Given the description of an element on the screen output the (x, y) to click on. 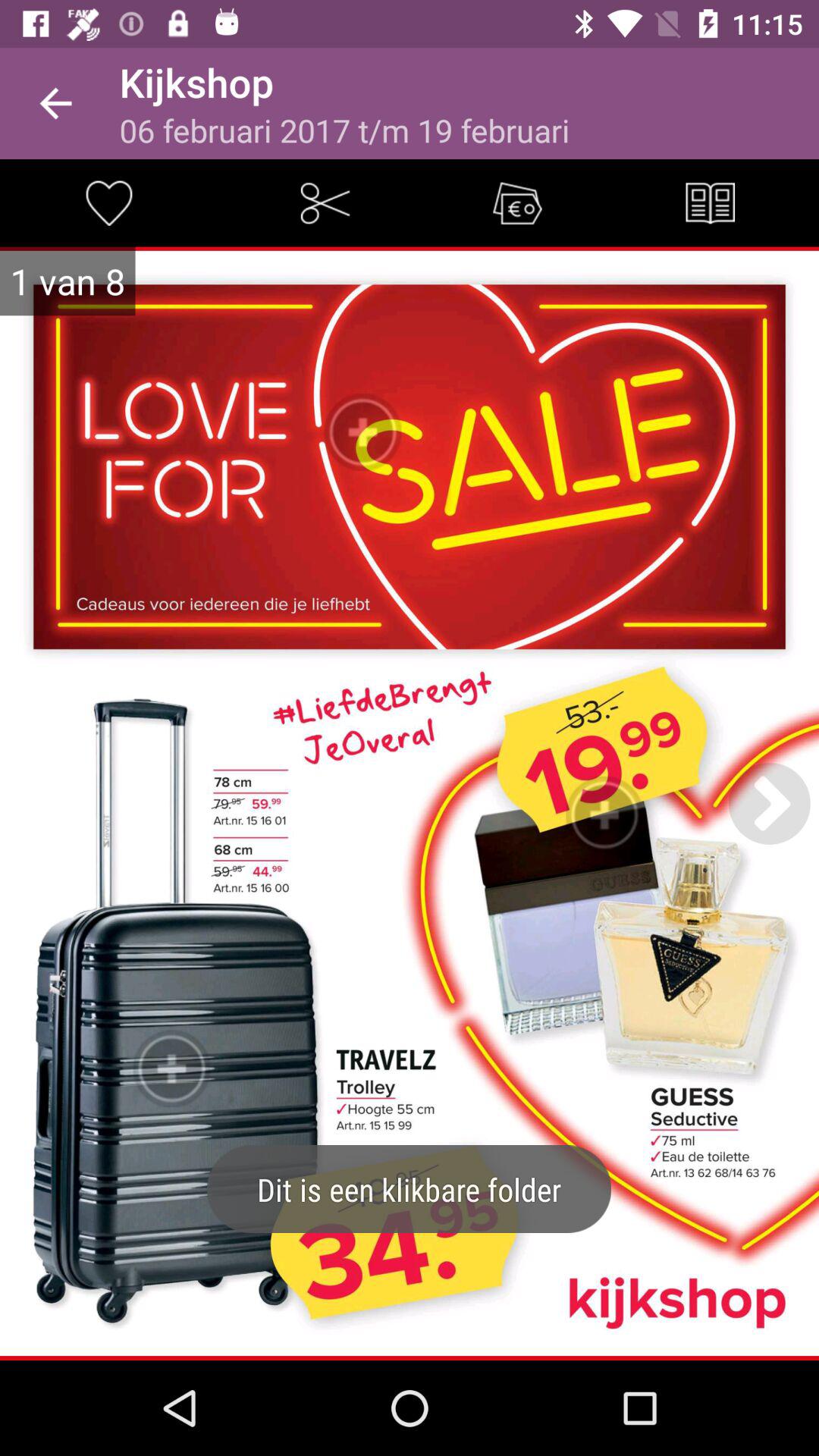
tap the app next to 06 februari 2017 item (710, 202)
